Given the description of an element on the screen output the (x, y) to click on. 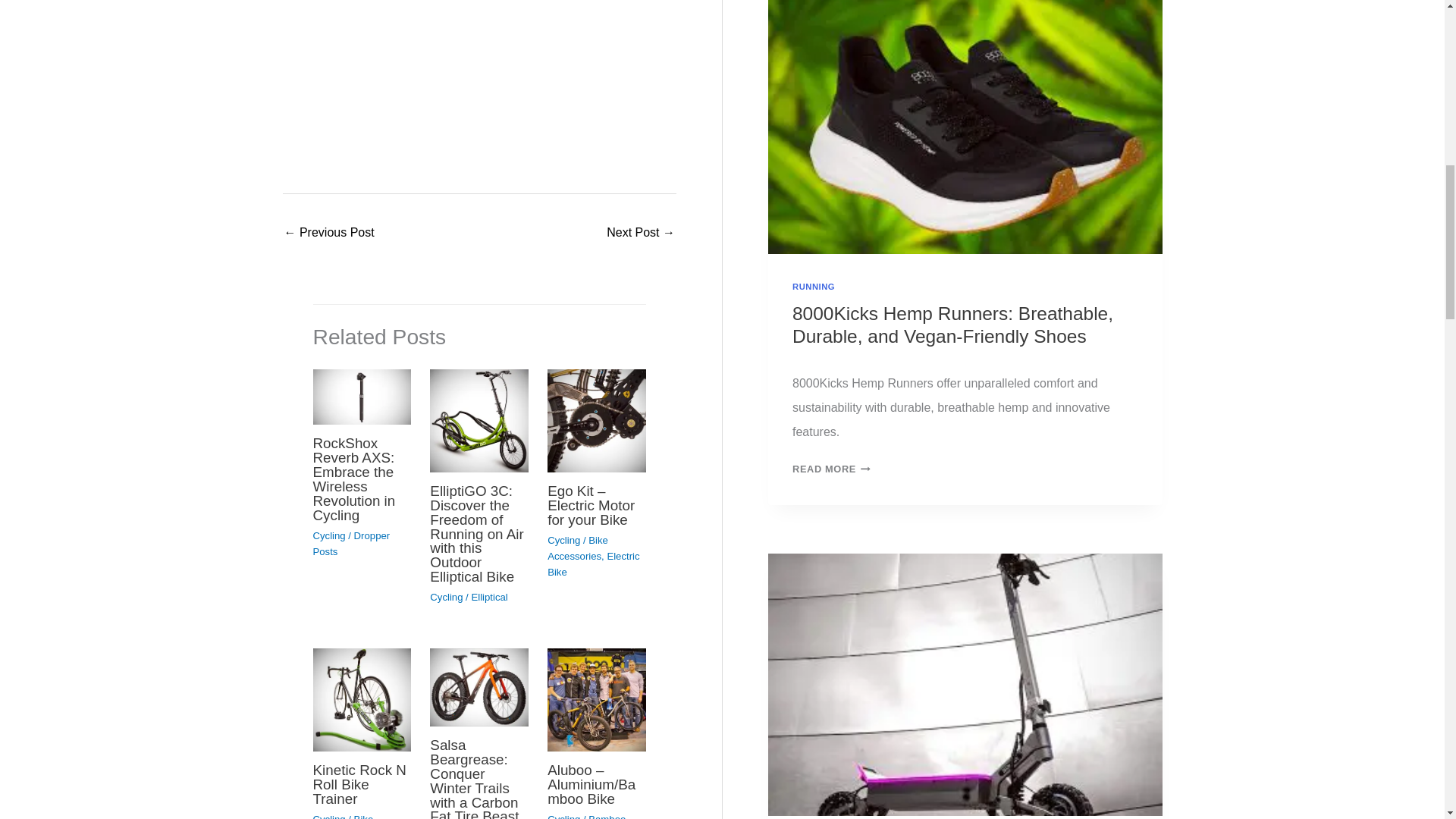
X-Doria KidFit - Encourage Your Kids to be Fit (641, 234)
Bicycle Flat Tire Repair - patchnride video (479, 81)
Garmin Approach S6 Golf Watch Coach Caddy (328, 234)
